Given the description of an element on the screen output the (x, y) to click on. 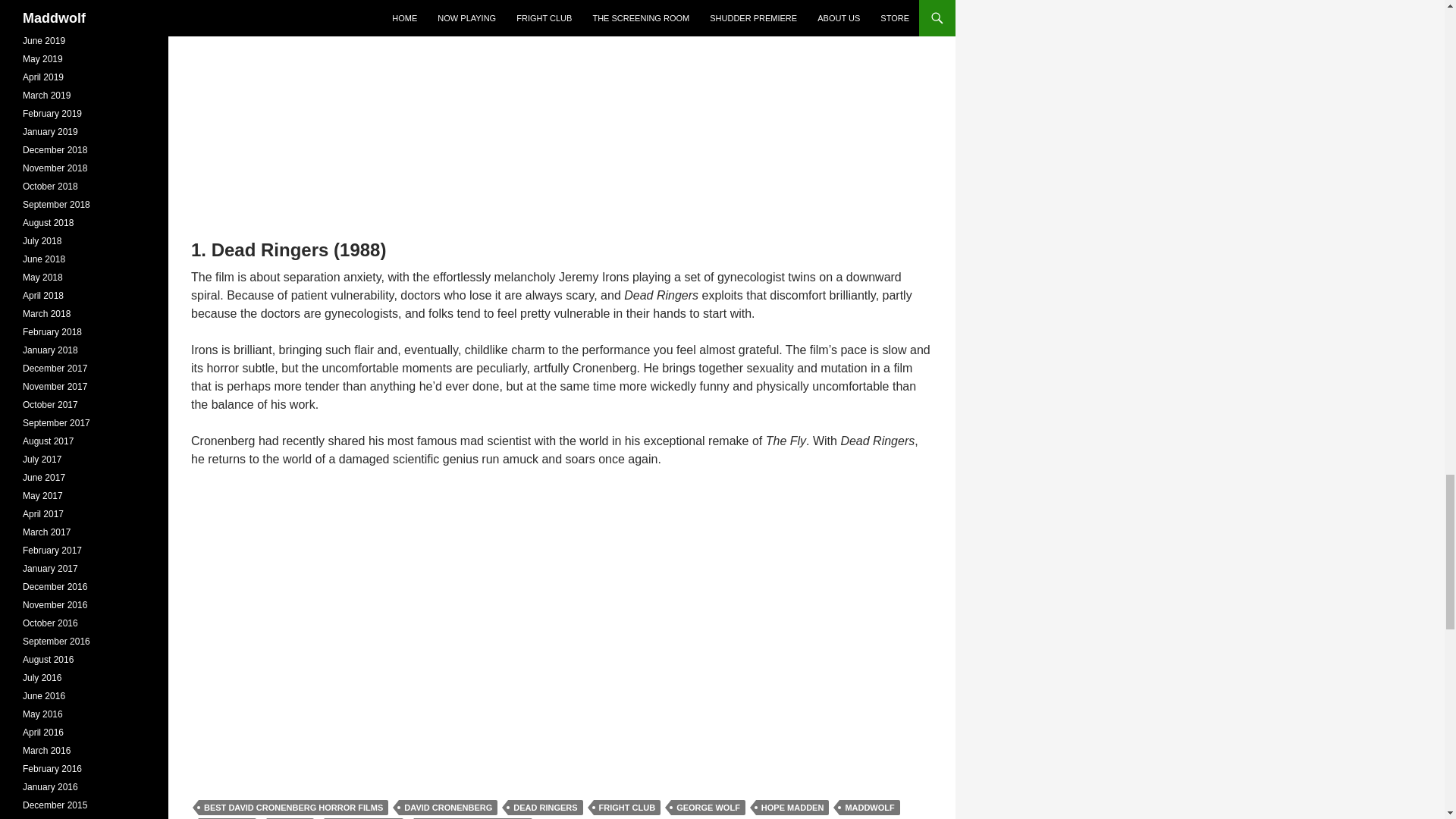
HOPE MADDEN (792, 807)
GEORGE WOLF (708, 807)
DAVID CRONENBERG (447, 807)
DEAD RINGERS (545, 807)
MADDWOLF (869, 807)
BEST DAVID CRONENBERG HORROR FILMS (293, 807)
SCANNERS (227, 818)
FRIGHT CLUB (627, 807)
SHIVERS (290, 818)
Dead Ringers 1988 Trailer (370, 621)
